Given the description of an element on the screen output the (x, y) to click on. 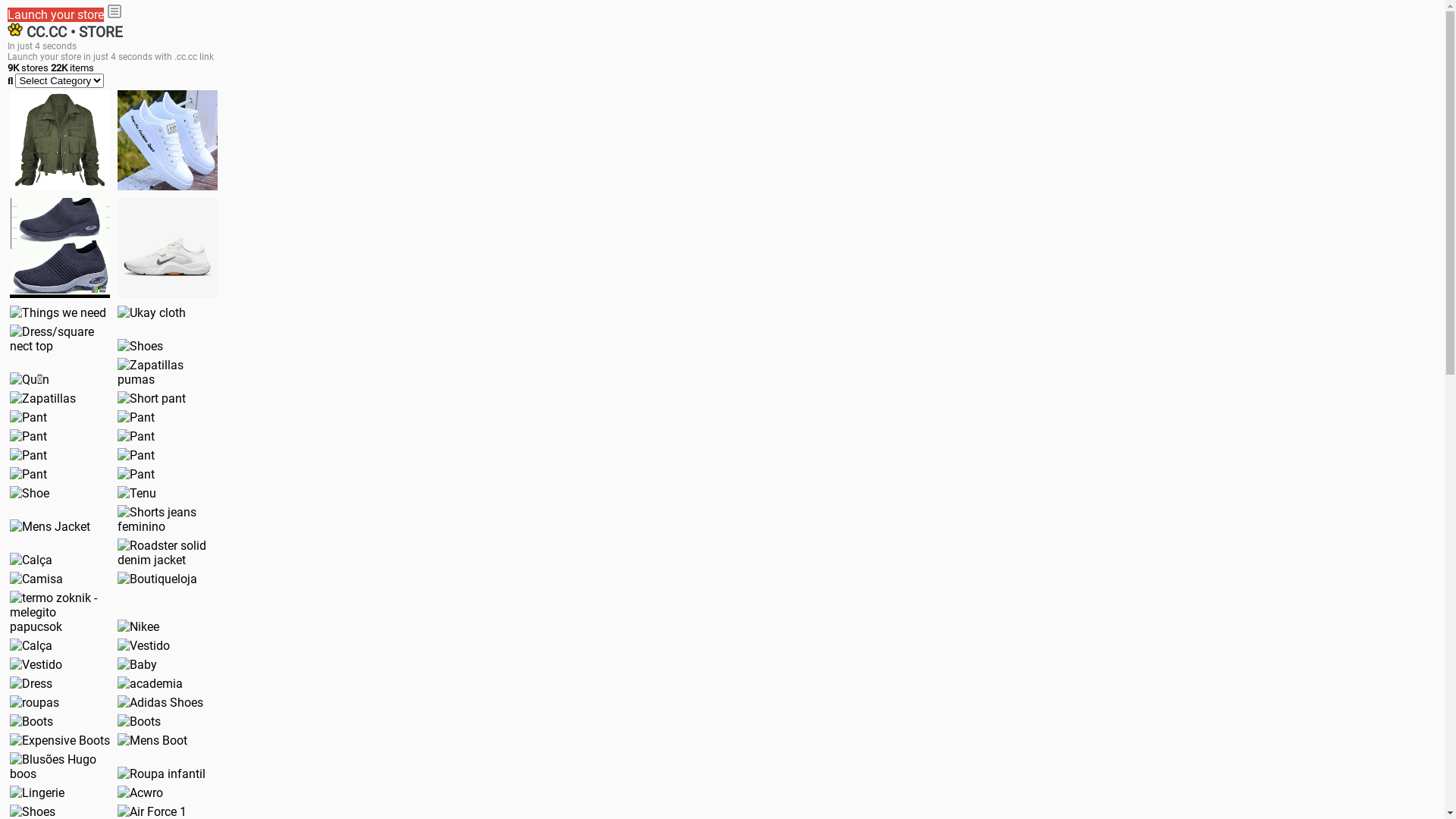
Shoes Element type: hover (140, 345)
Launch your store Element type: text (55, 14)
Pant Element type: hover (135, 455)
Boutiqueloja Element type: hover (157, 578)
Ukay cloth Element type: hover (151, 312)
Camisa Element type: hover (35, 578)
Dress/square nect top Element type: hover (59, 338)
Lingerie Element type: hover (36, 792)
shoes for boys Element type: hover (59, 247)
Pant Element type: hover (28, 436)
Pant Element type: hover (28, 474)
Boots Element type: hover (31, 721)
Zapatillas Element type: hover (42, 398)
Vestido Element type: hover (35, 664)
jacket Element type: hover (59, 140)
Nikee Element type: hover (138, 626)
Things we need Element type: hover (57, 312)
Mens Boot Element type: hover (152, 740)
white shoes Element type: hover (167, 140)
Shoes for boys Element type: hover (167, 247)
Dress Element type: hover (30, 683)
Shorts jeans feminino Element type: hover (167, 519)
Pant Element type: hover (28, 455)
termo zoknik - melegito papucsok Element type: hover (59, 611)
Shoe Element type: hover (29, 493)
Boots Element type: hover (138, 721)
Mens Jacket Element type: hover (49, 526)
Roadster solid denim jacket Element type: hover (167, 552)
Expensive Boots Element type: hover (59, 740)
Pant Element type: hover (28, 417)
Baby Element type: hover (136, 664)
roupas Element type: hover (34, 702)
Pant Element type: hover (135, 474)
academia Element type: hover (149, 683)
Tenu Element type: hover (136, 493)
Pant Element type: hover (135, 417)
Zapatillas pumas Element type: hover (167, 371)
Roupa infantil Element type: hover (161, 773)
Pant Element type: hover (135, 436)
Short pant Element type: hover (151, 398)
Adidas Shoes Element type: hover (160, 702)
Vestido Element type: hover (143, 645)
Acwro Element type: hover (140, 792)
